Given the description of an element on the screen output the (x, y) to click on. 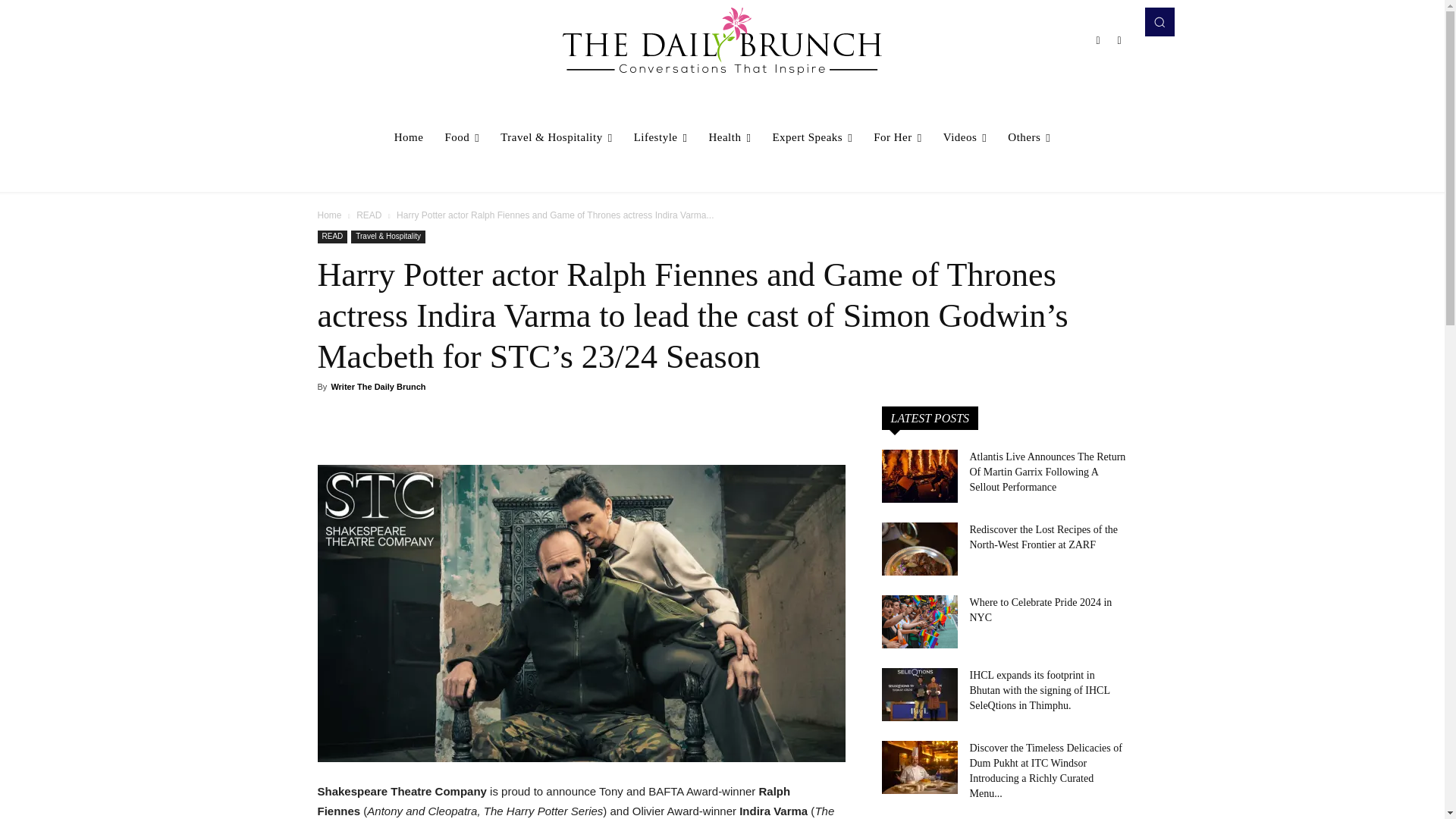
Food (461, 136)
Home (408, 136)
Facebook (1097, 39)
Youtube (1118, 39)
